Given the description of an element on the screen output the (x, y) to click on. 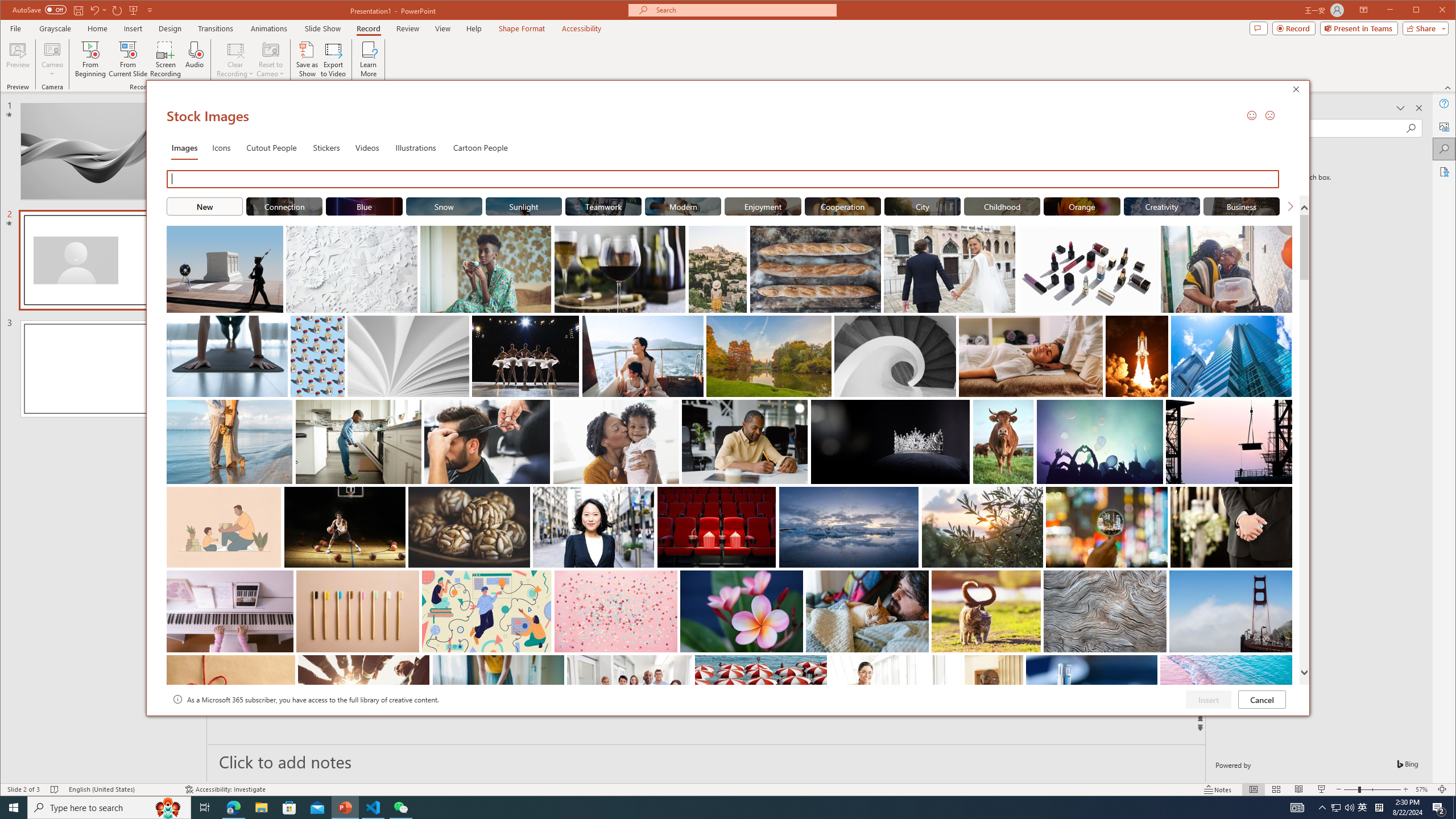
"Creativity" Stock Images. (1161, 206)
Maximize (1432, 11)
